Given the description of an element on the screen output the (x, y) to click on. 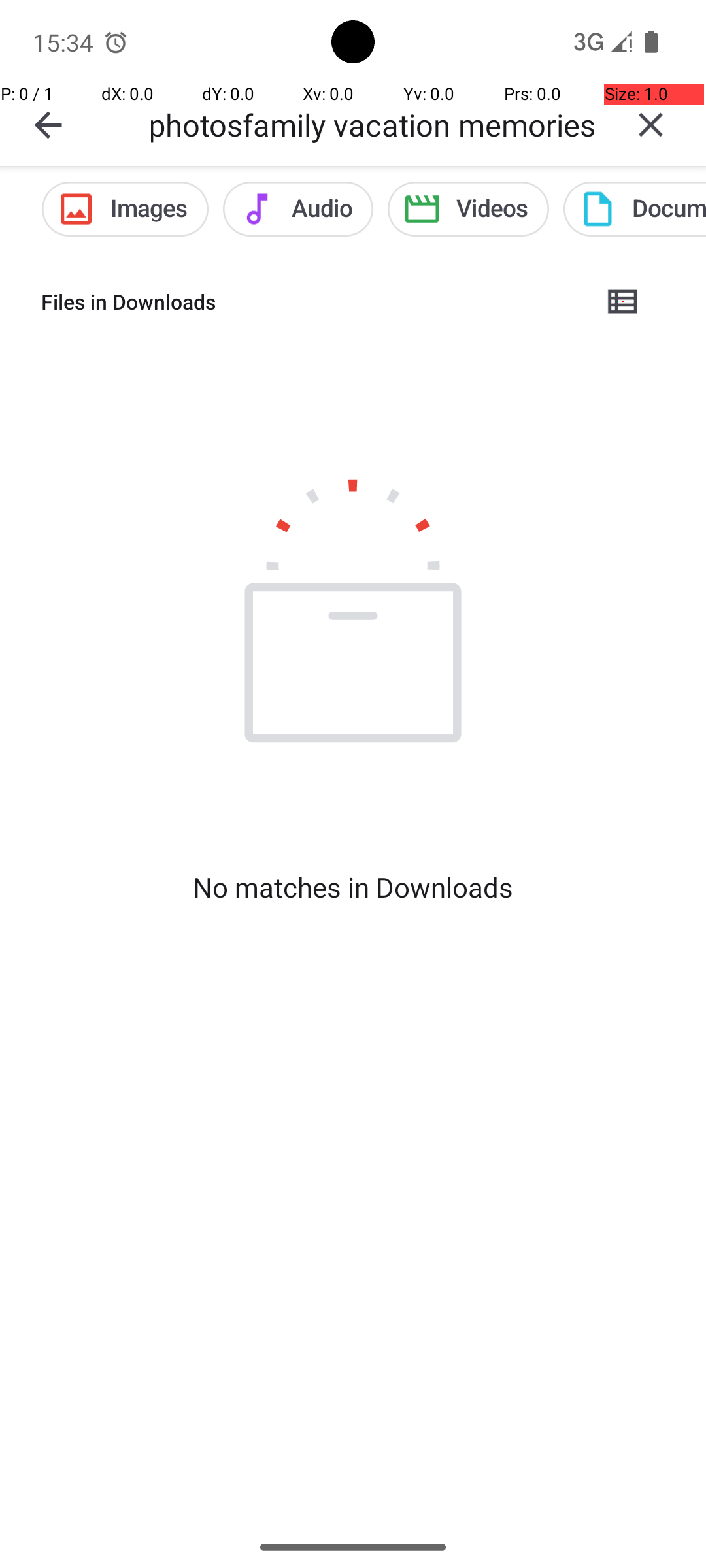
holiday photosfamily vacation memories Element type: android.widget.AutoCompleteTextView (373, 124)
